Given the description of an element on the screen output the (x, y) to click on. 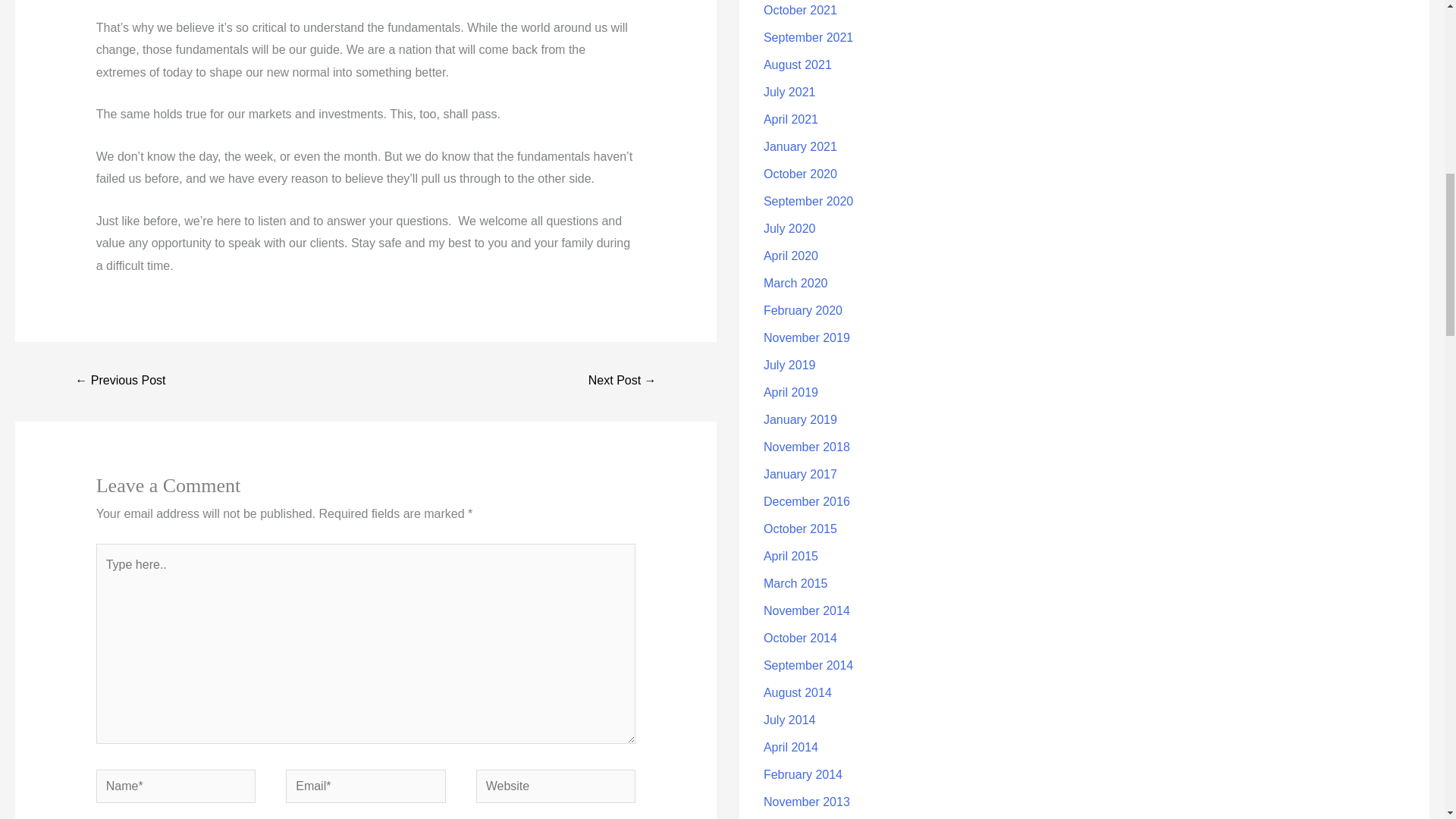
September 2021 (807, 5)
July 2021 (788, 59)
We're Here to Help (119, 348)
yes (101, 809)
Don't Overreact to the Movements (622, 348)
April 2021 (790, 86)
August 2021 (796, 31)
